Given the description of an element on the screen output the (x, y) to click on. 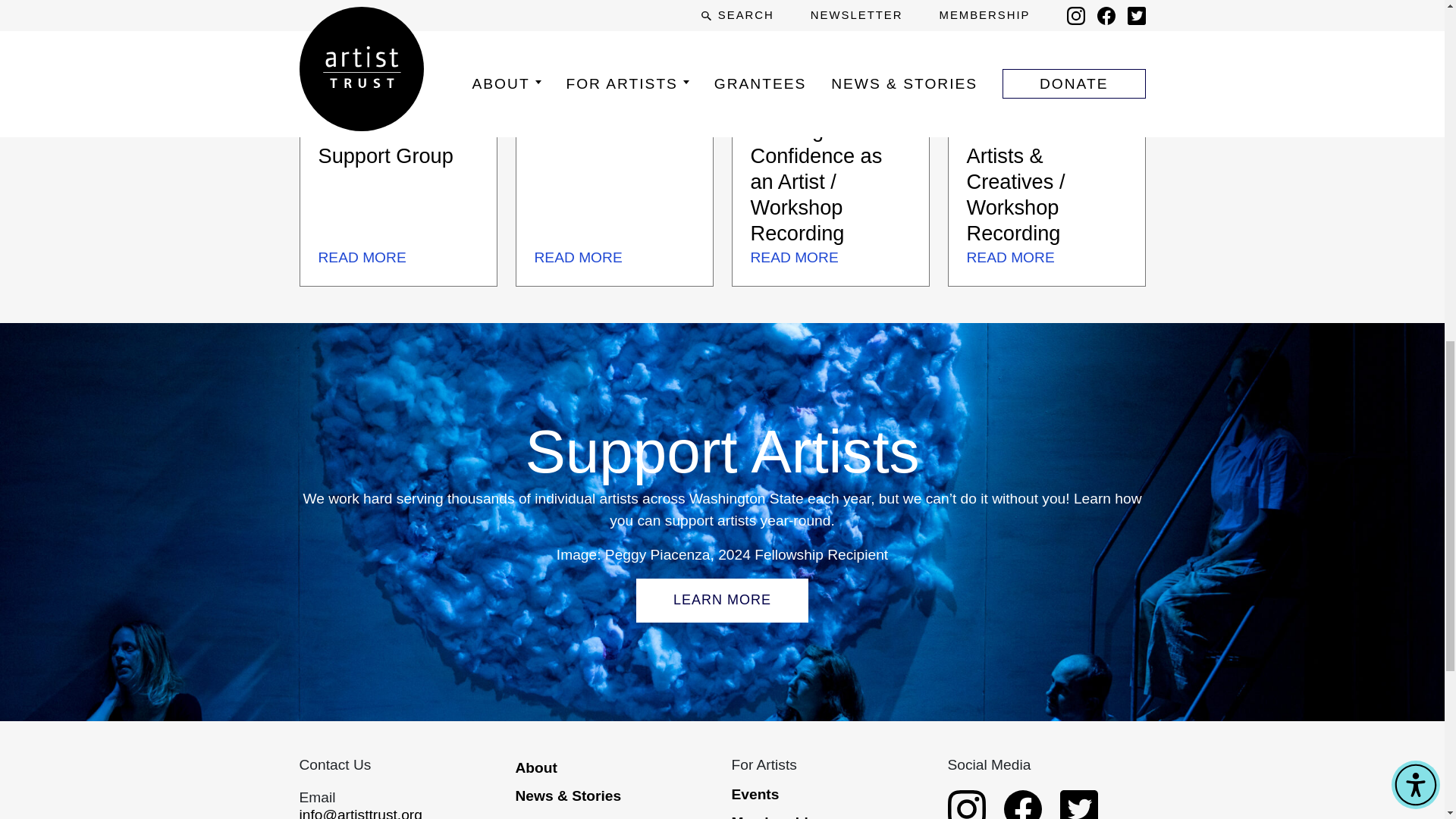
READ MORE (362, 257)
Insecure Writers Support Group (392, 142)
